Given the description of an element on the screen output the (x, y) to click on. 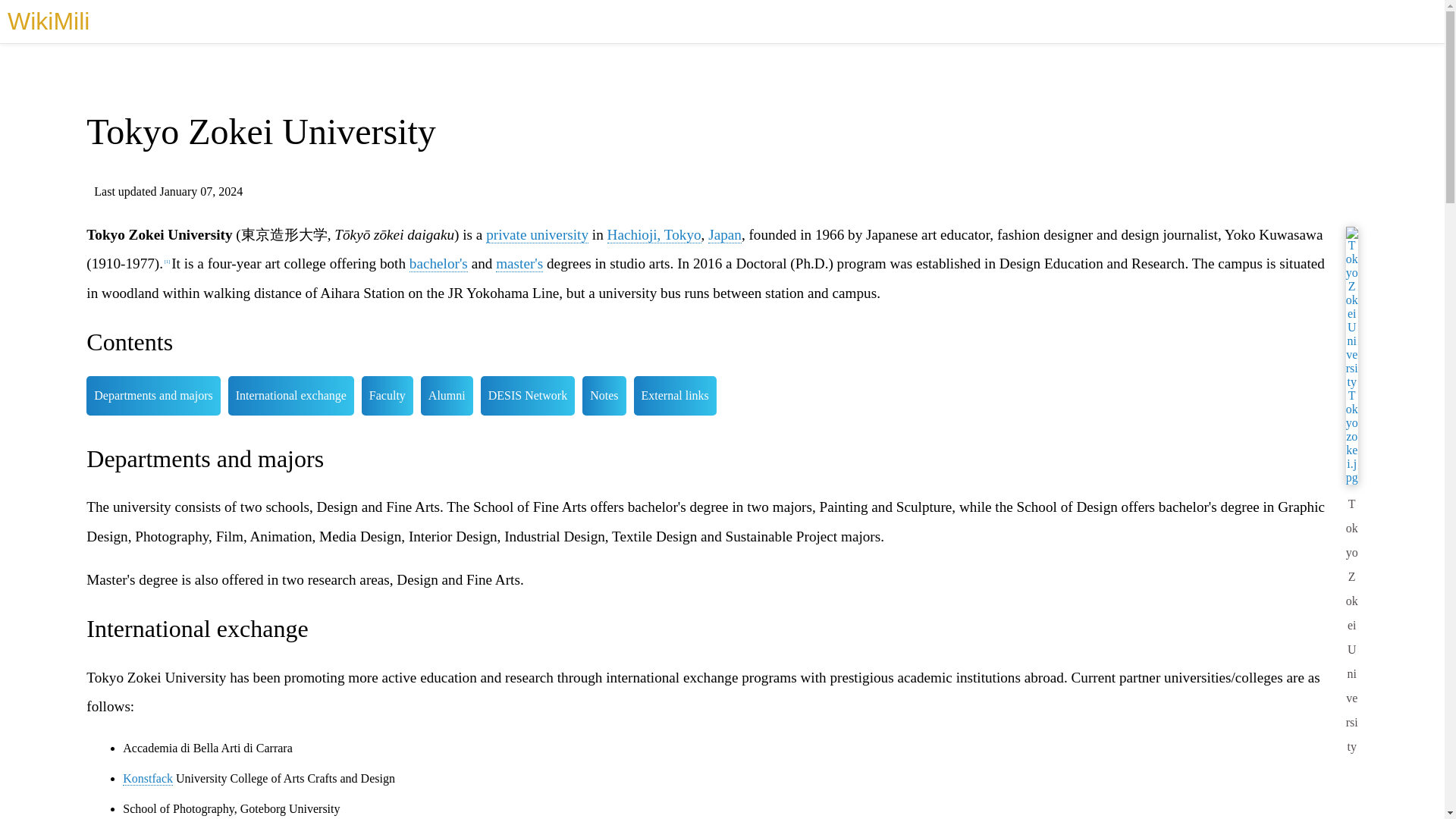
WikiMili (47, 21)
Alumni (446, 395)
DESIS Network (527, 395)
Yoko Kuwasawa (1273, 234)
Konstfack (147, 778)
External links (674, 395)
Hachioji, Tokyo (654, 234)
Faculty (387, 395)
Master's (519, 263)
Japan (724, 234)
